Given the description of an element on the screen output the (x, y) to click on. 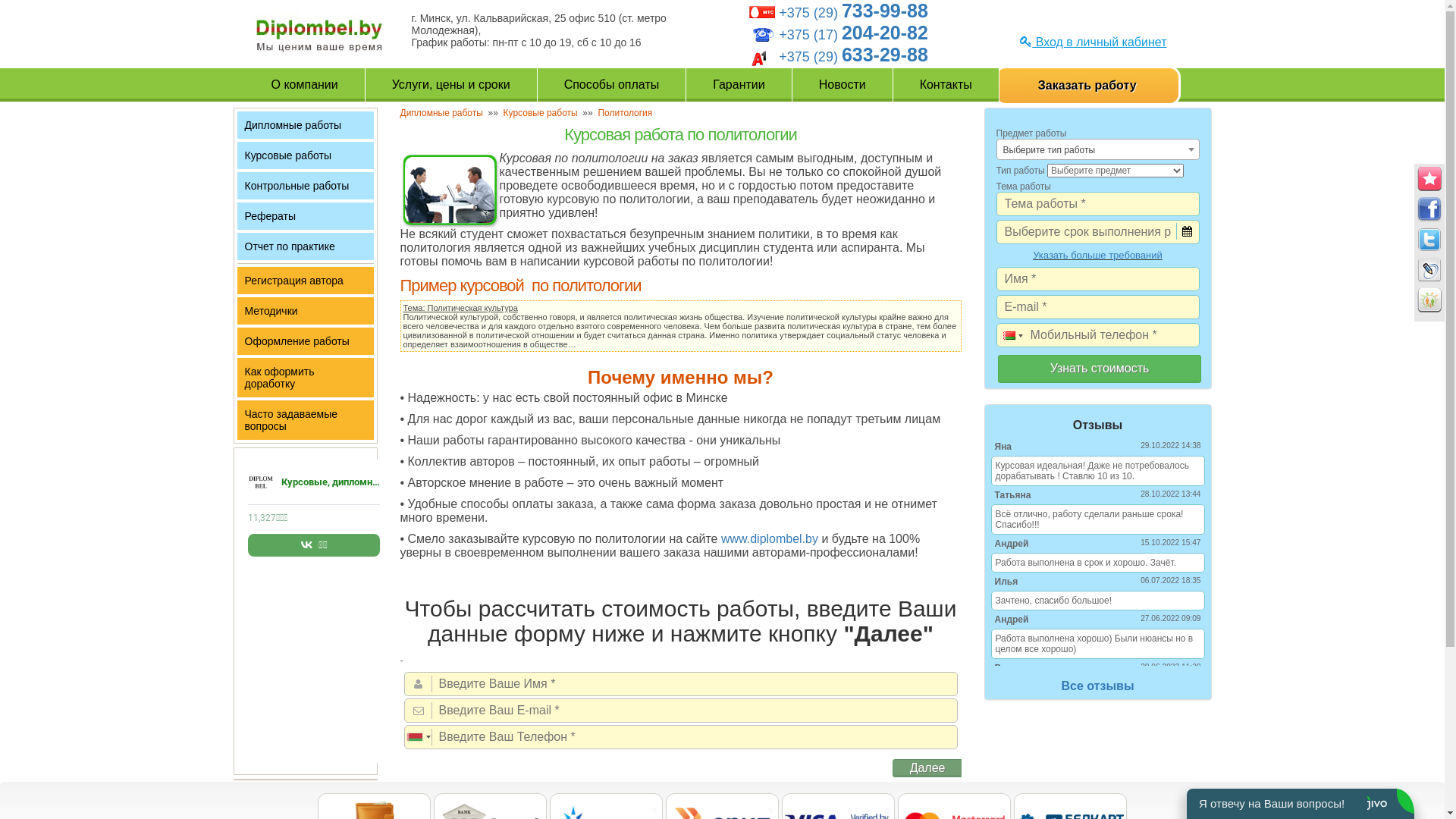
+375 (29) 733-99-88 Element type: text (853, 12)
+375 (29) 633-29-88 Element type: text (853, 56)
www.diplombel.by Element type: text (769, 538)
+375 (17) 204-20-82 Element type: text (853, 34)
